Given the description of an element on the screen output the (x, y) to click on. 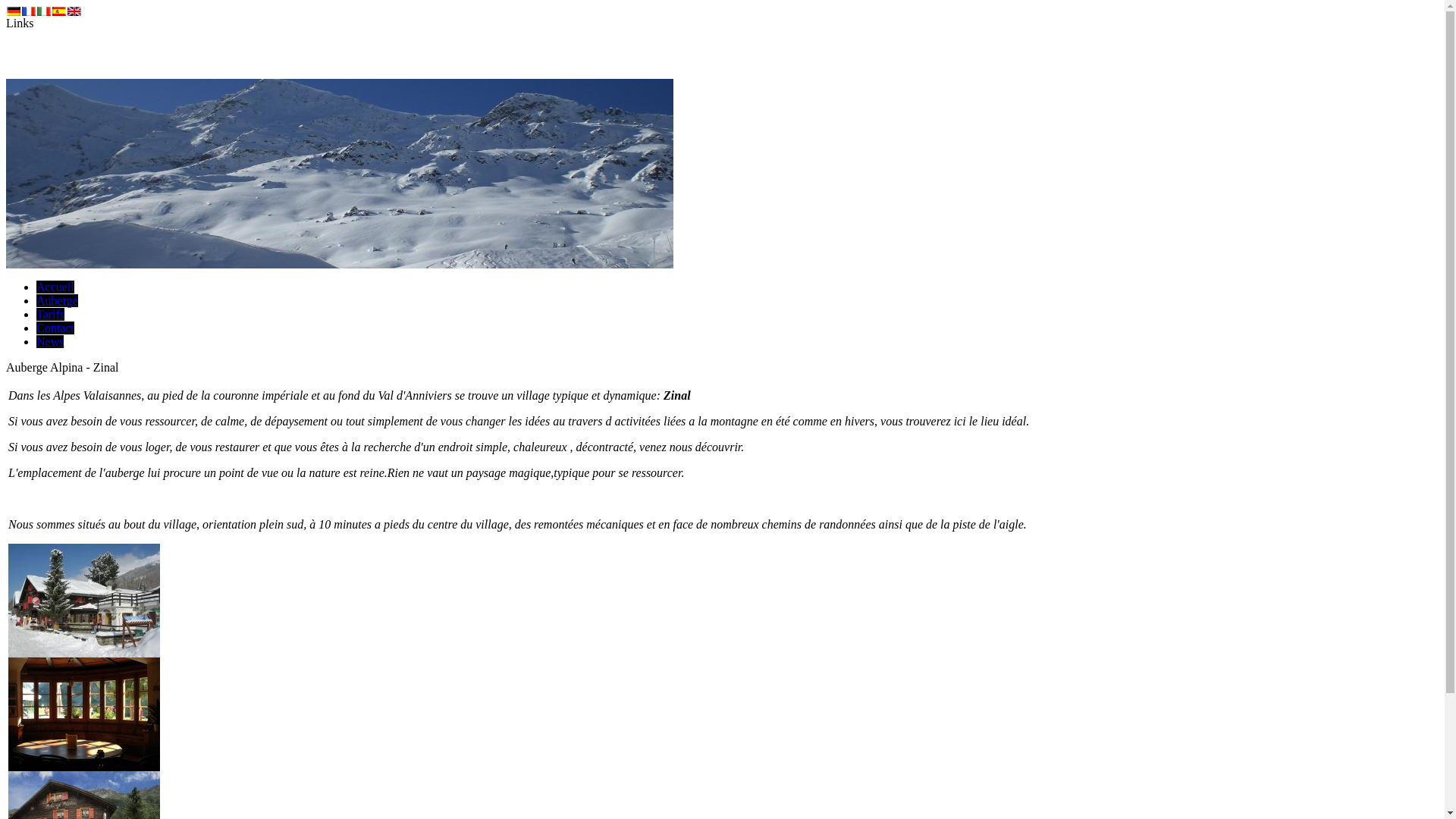
News Element type: text (49, 341)
Auberge Interieur1 Element type: hover (84, 766)
Deutsch (DE-CH-AT) Element type: hover (13, 11)
Auberge Hiver Element type: hover (84, 652)
Accueil Element type: text (55, 286)
Tarifs Element type: text (50, 313)
Auberge Element type: text (57, 300)
Contact Element type: text (55, 327)
French (Fr) Element type: hover (28, 11)
English (United Kingdom) Element type: hover (73, 11)
Italian - Italy Element type: hover (43, 11)
